Given the description of an element on the screen output the (x, y) to click on. 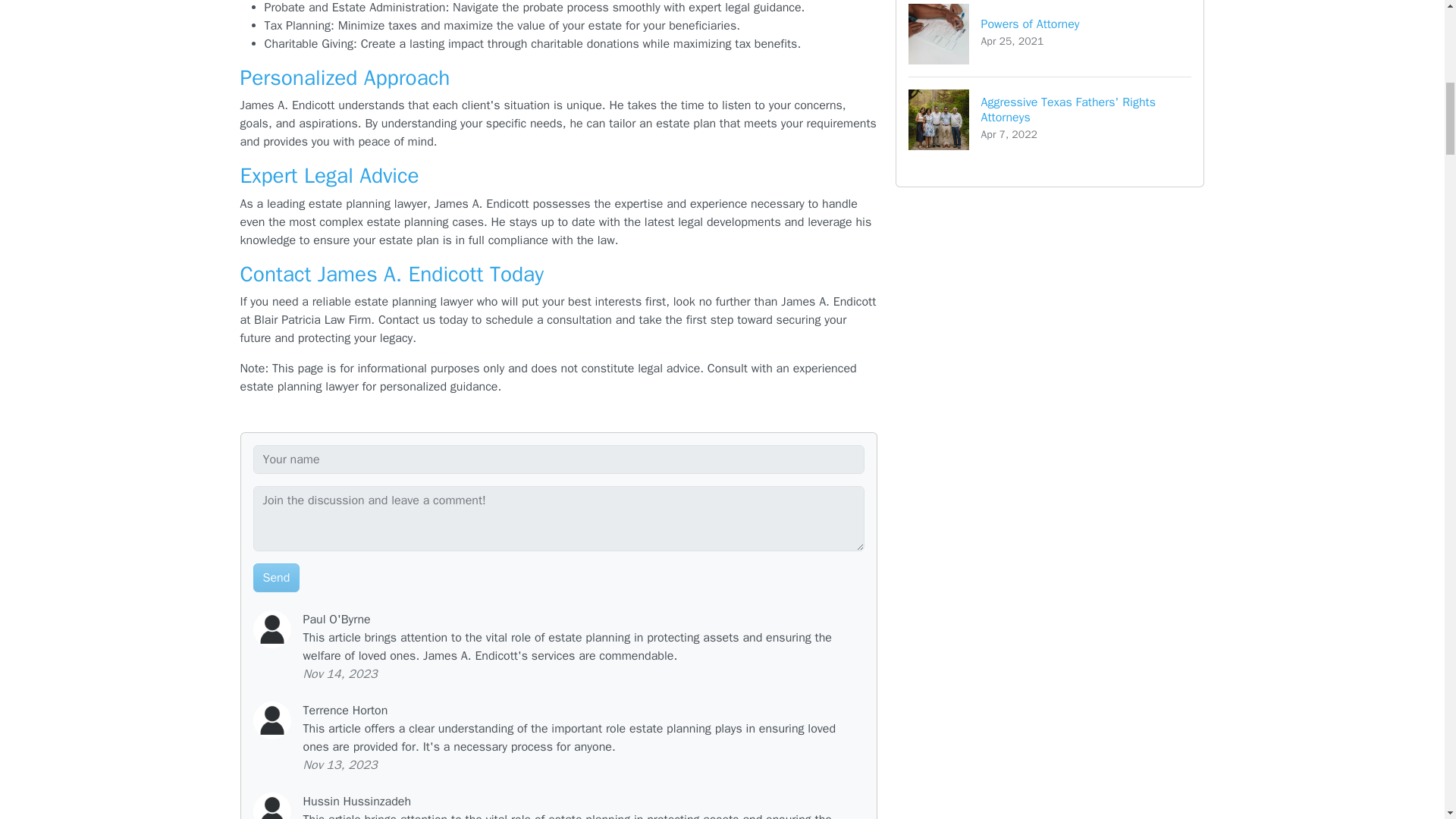
Send (276, 577)
Send (276, 577)
